Given the description of an element on the screen output the (x, y) to click on. 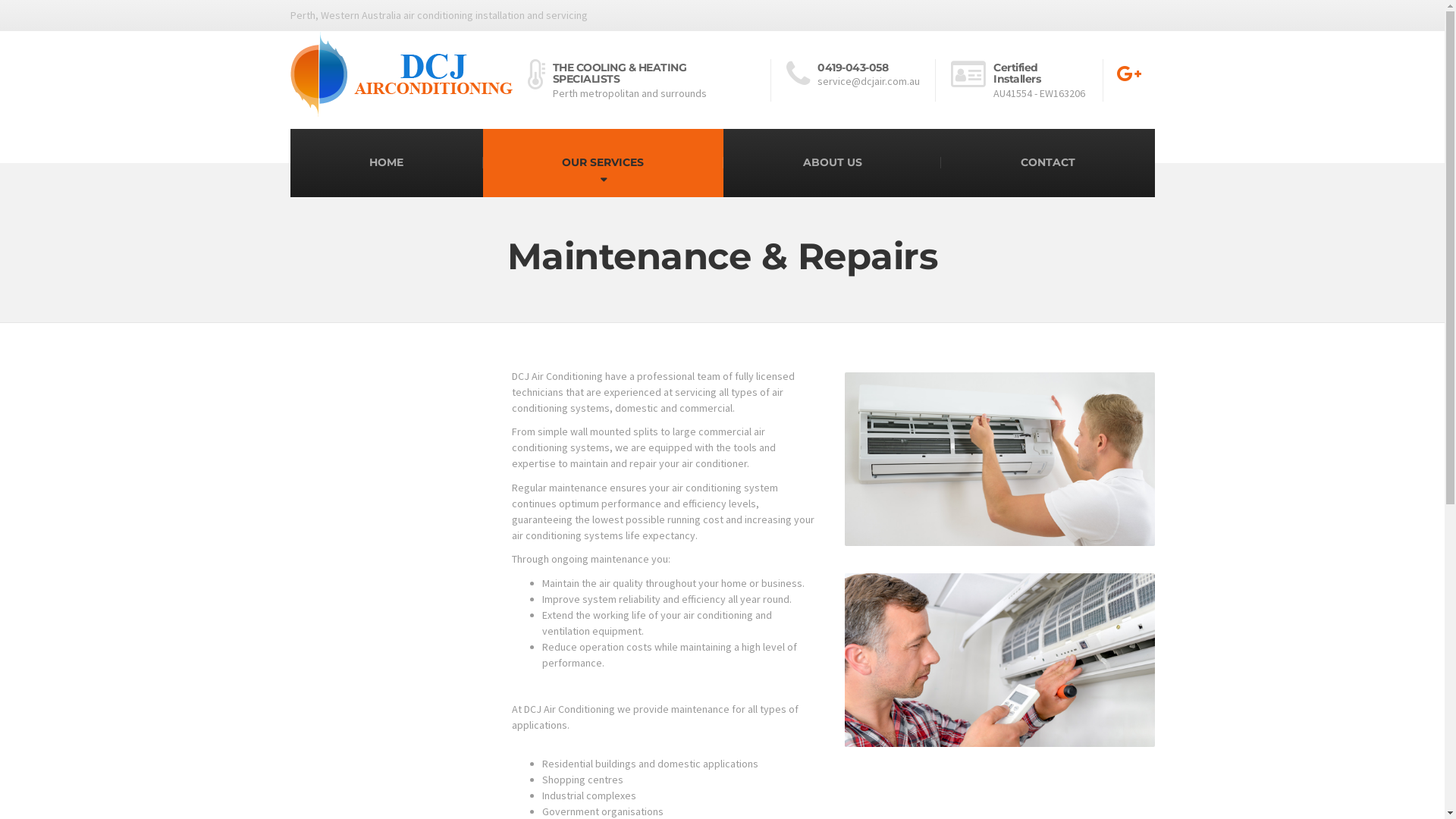
0419-043-058
service@dcjair.com.au Element type: text (860, 80)
ABOUT US Element type: text (832, 162)
OUR SERVICES Element type: text (603, 162)
CONTACT Element type: text (1047, 162)
HOME Element type: text (385, 162)
